Given the description of an element on the screen output the (x, y) to click on. 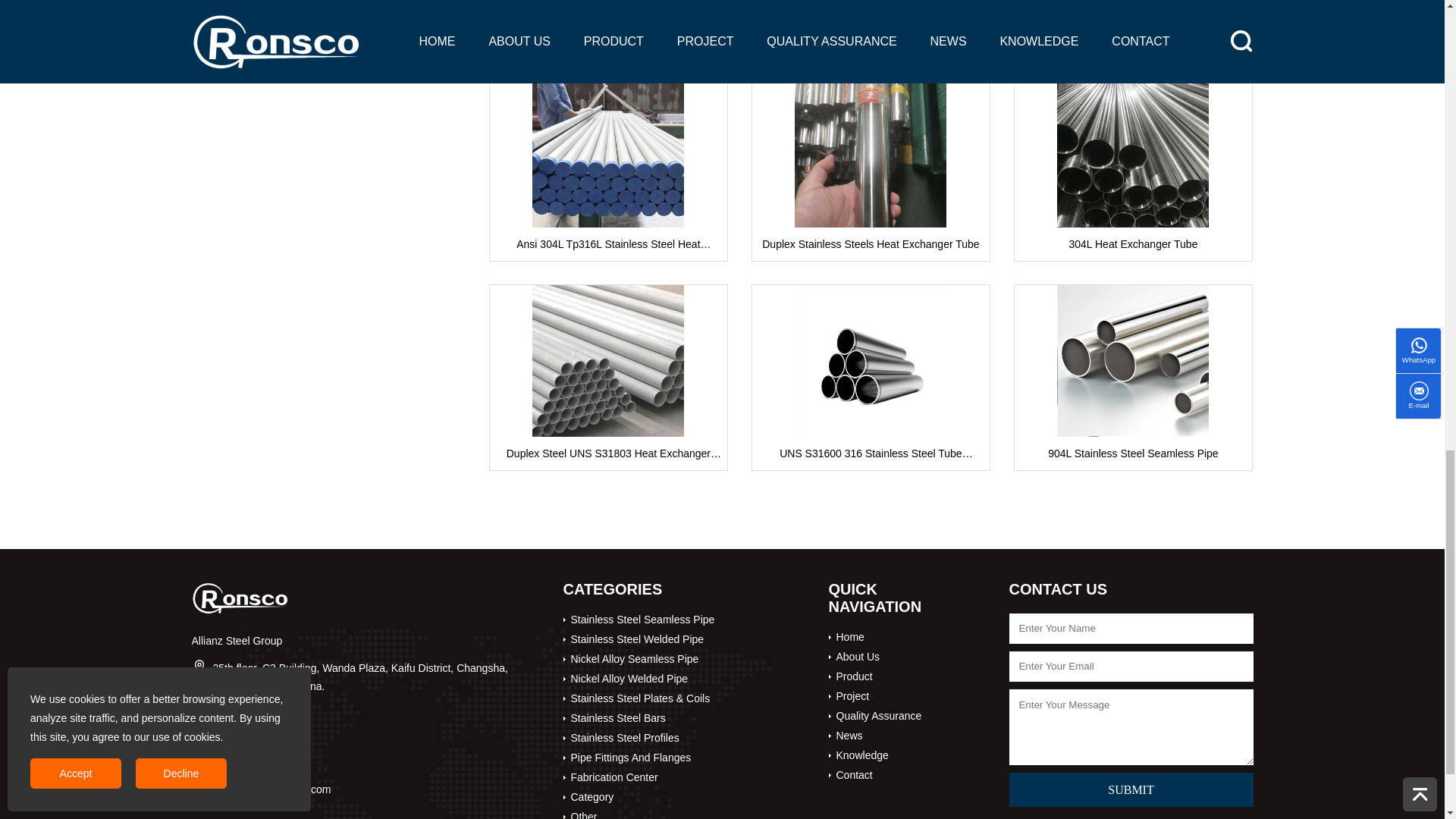
email to us (271, 788)
Submit (1130, 789)
